Given the description of an element on the screen output the (x, y) to click on. 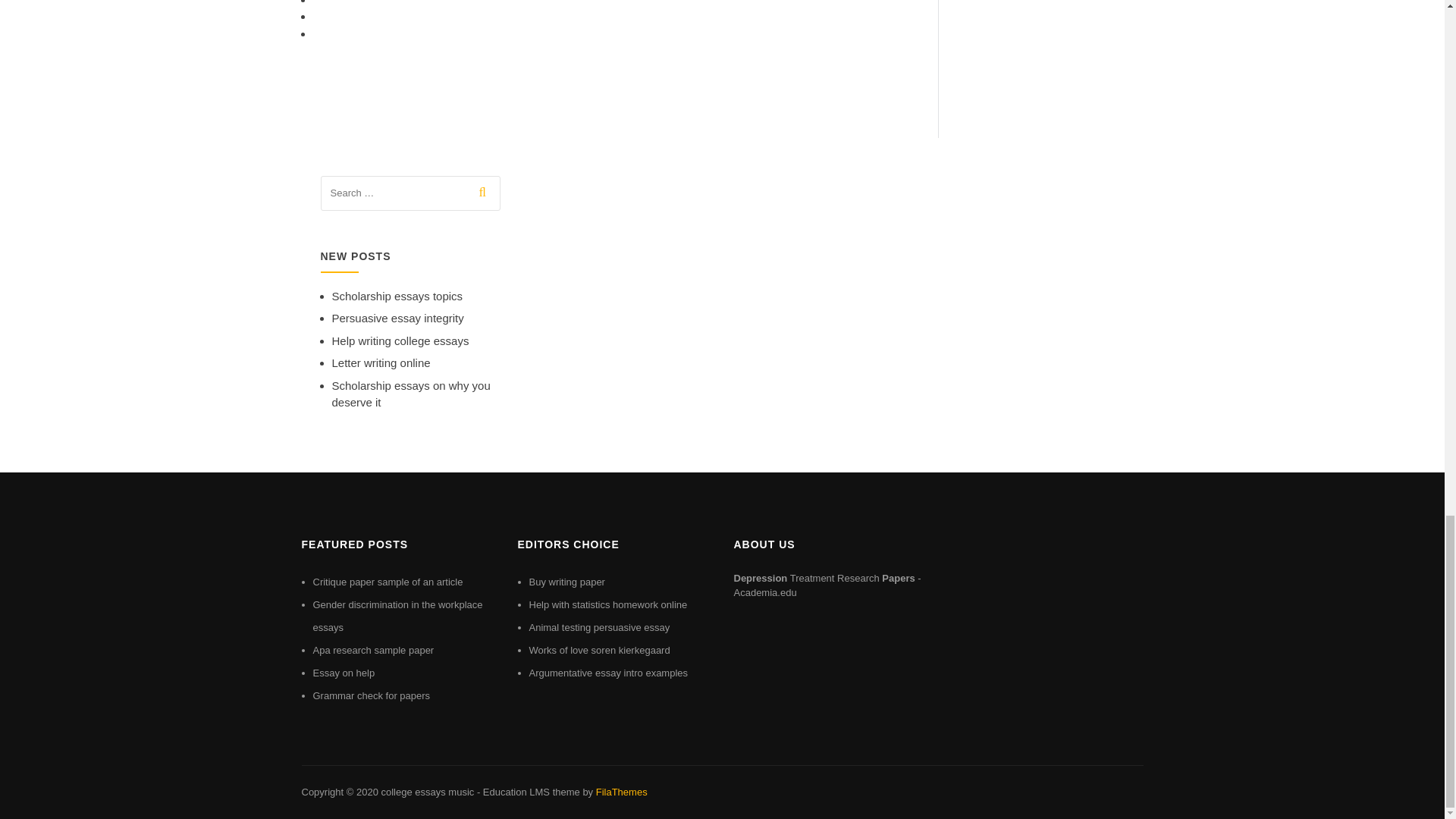
Scholarship essays on why you deserve it (410, 394)
Essay on help (343, 672)
Argumentative essay intro examples (608, 672)
Animal testing persuasive essay (599, 627)
Gender discrimination in the workplace essays (397, 615)
Works of love soren kierkegaard (599, 650)
Apa research sample paper (373, 650)
Critique paper sample of an article (388, 582)
Grammar check for papers (371, 695)
Help with statistics homework online (608, 604)
